Given the description of an element on the screen output the (x, y) to click on. 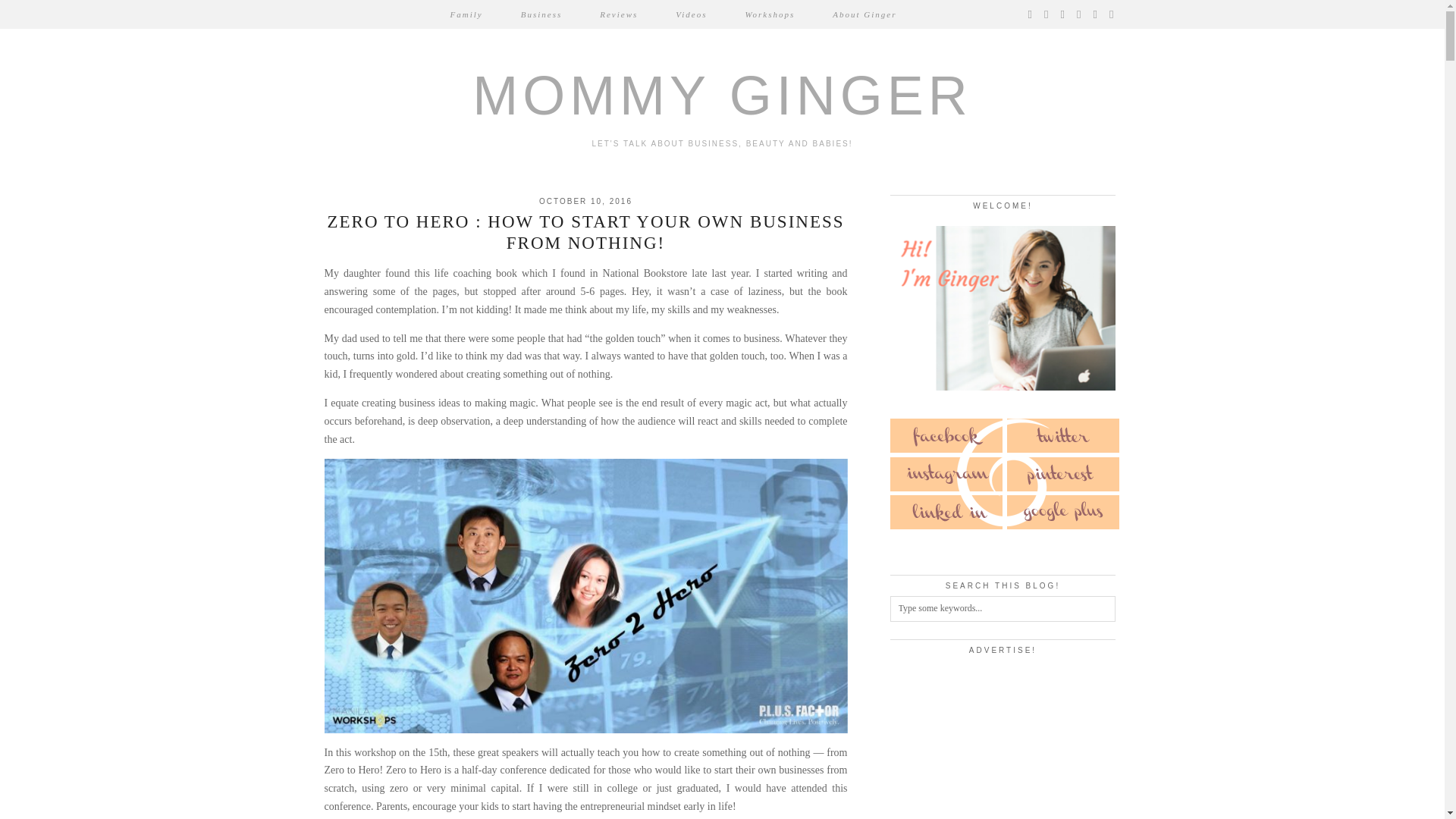
MOMMY GINGER (721, 95)
Reviews (618, 14)
Family (466, 14)
Business (541, 14)
Mommy Ginger (721, 95)
